Given the description of an element on the screen output the (x, y) to click on. 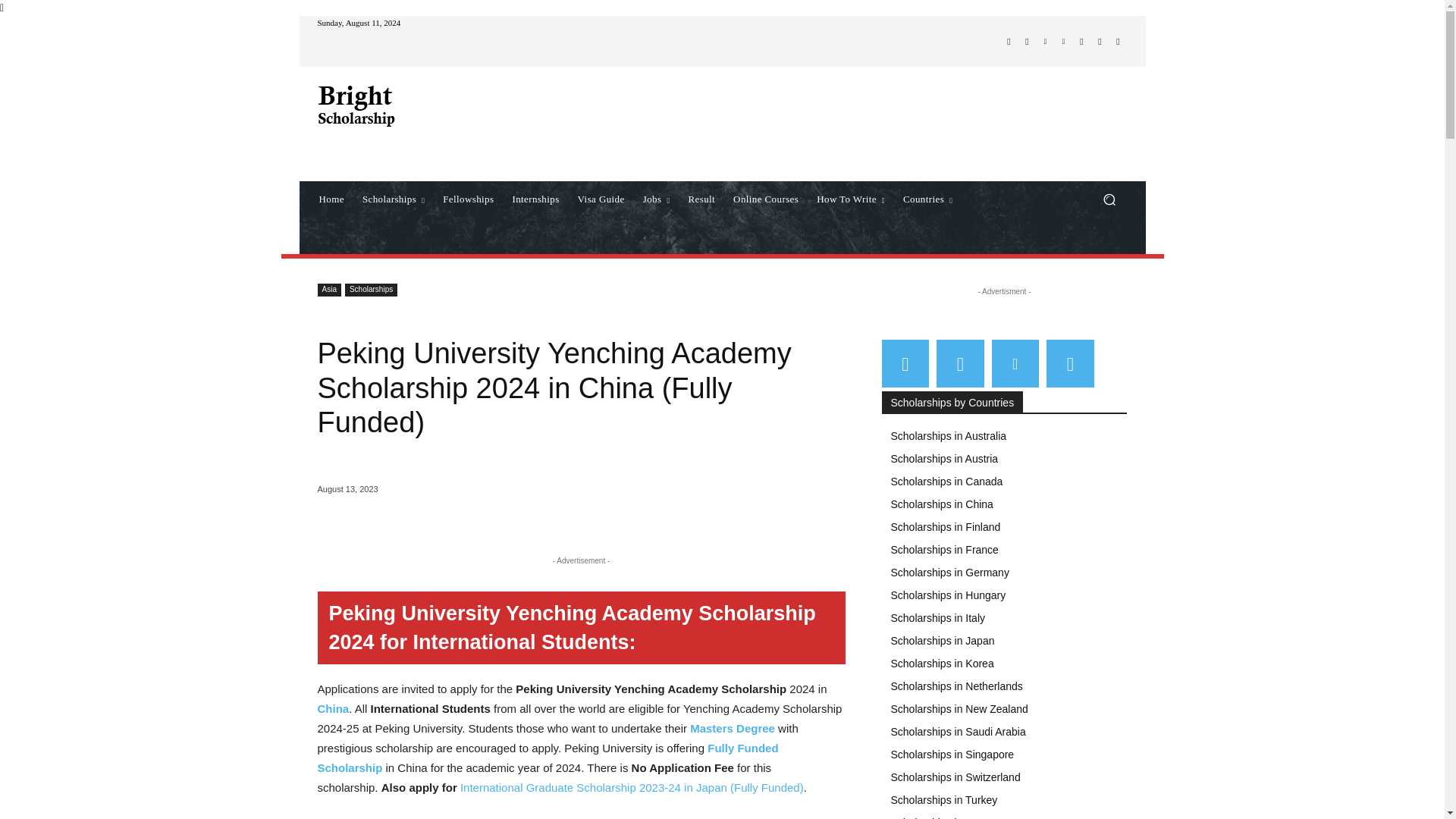
Telegram (1080, 40)
Pinterest (1062, 40)
Instagram (1026, 40)
Facebook (1007, 40)
Home (330, 198)
Youtube (1117, 40)
Twitter (1099, 40)
Linkedin (1044, 40)
